Given the description of an element on the screen output the (x, y) to click on. 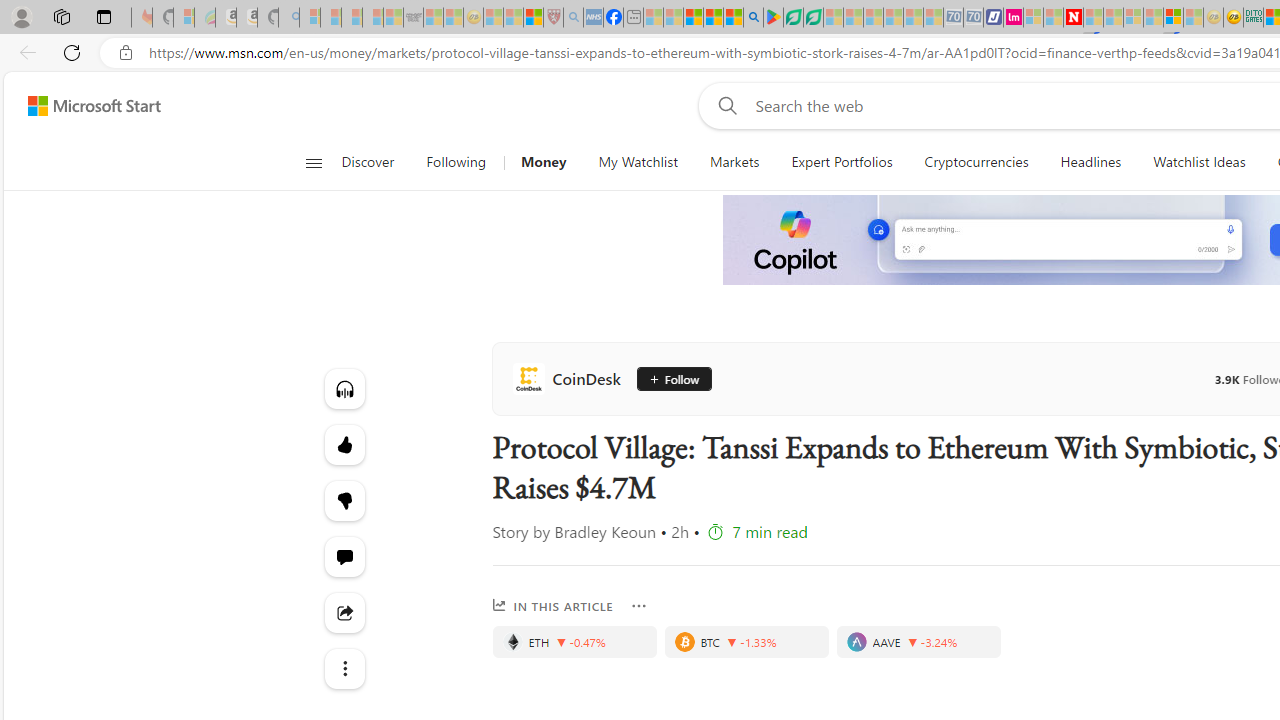
Pets - MSN (713, 17)
